Given the description of an element on the screen output the (x, y) to click on. 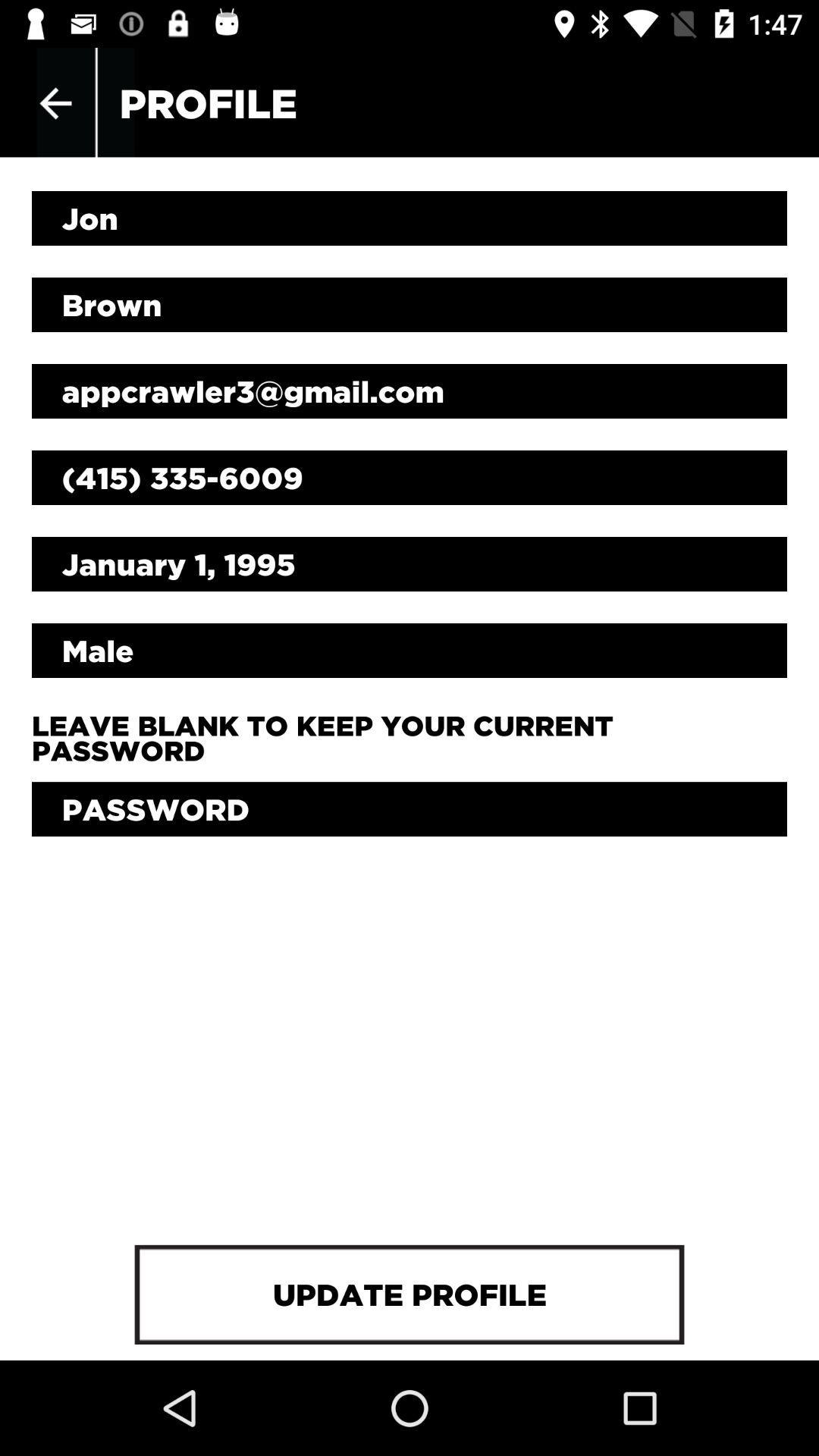
jump to the jon item (409, 218)
